Given the description of an element on the screen output the (x, y) to click on. 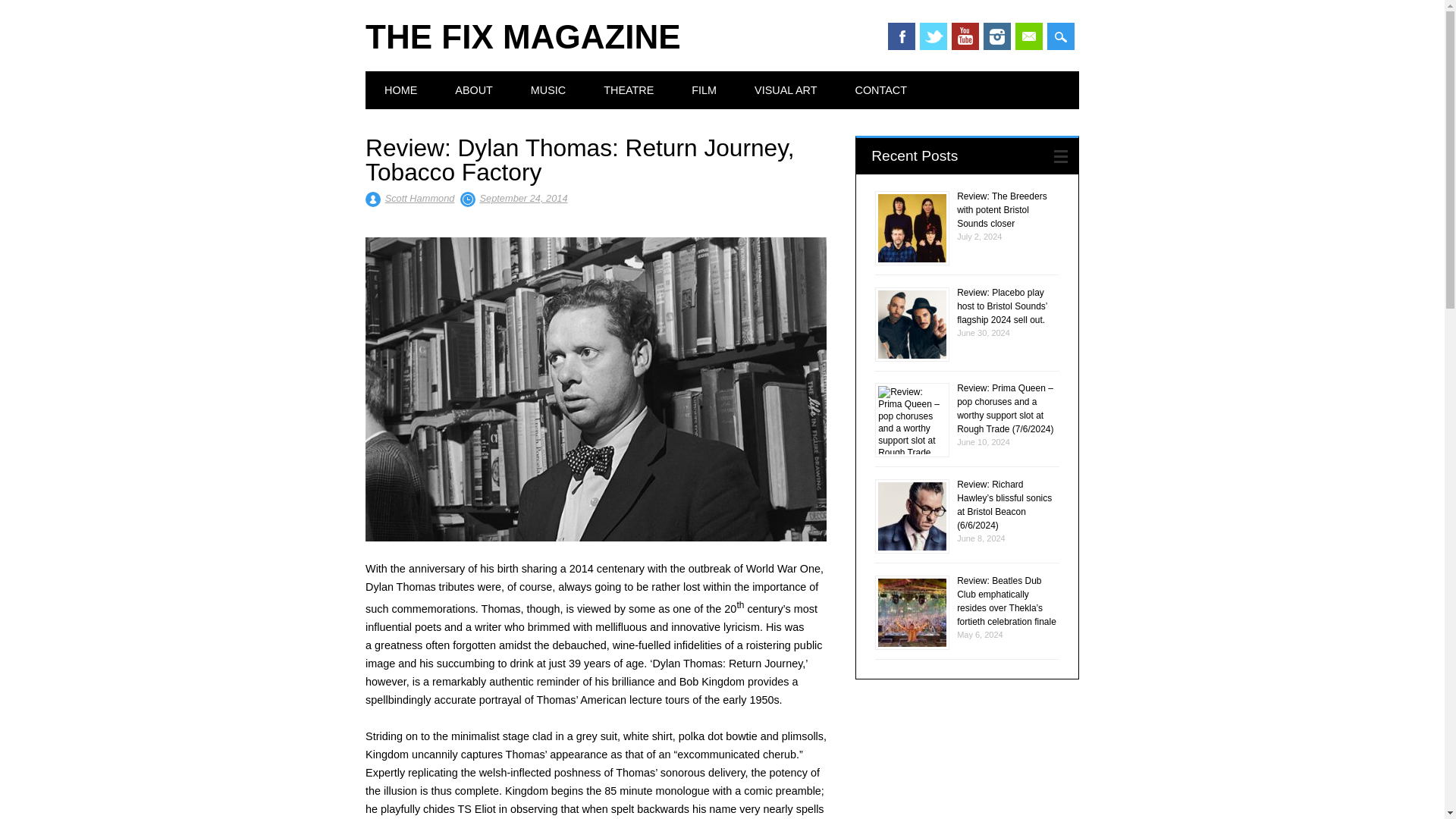
Review: The Breeders with potent Bristol Sounds closer (1001, 209)
The Fix Magazine (523, 36)
THE FIX MAGAZINE (523, 36)
Youtube (965, 35)
Twitter (933, 35)
CONTACT (879, 89)
View all posts by Scott Hammond (419, 197)
MUSIC (548, 89)
HOME (400, 89)
Instagram (997, 35)
September 24, 2014 (523, 197)
VISUAL ART (785, 89)
ABOUT (473, 89)
THEATRE (628, 89)
Scott Hammond (419, 197)
